Given the description of an element on the screen output the (x, y) to click on. 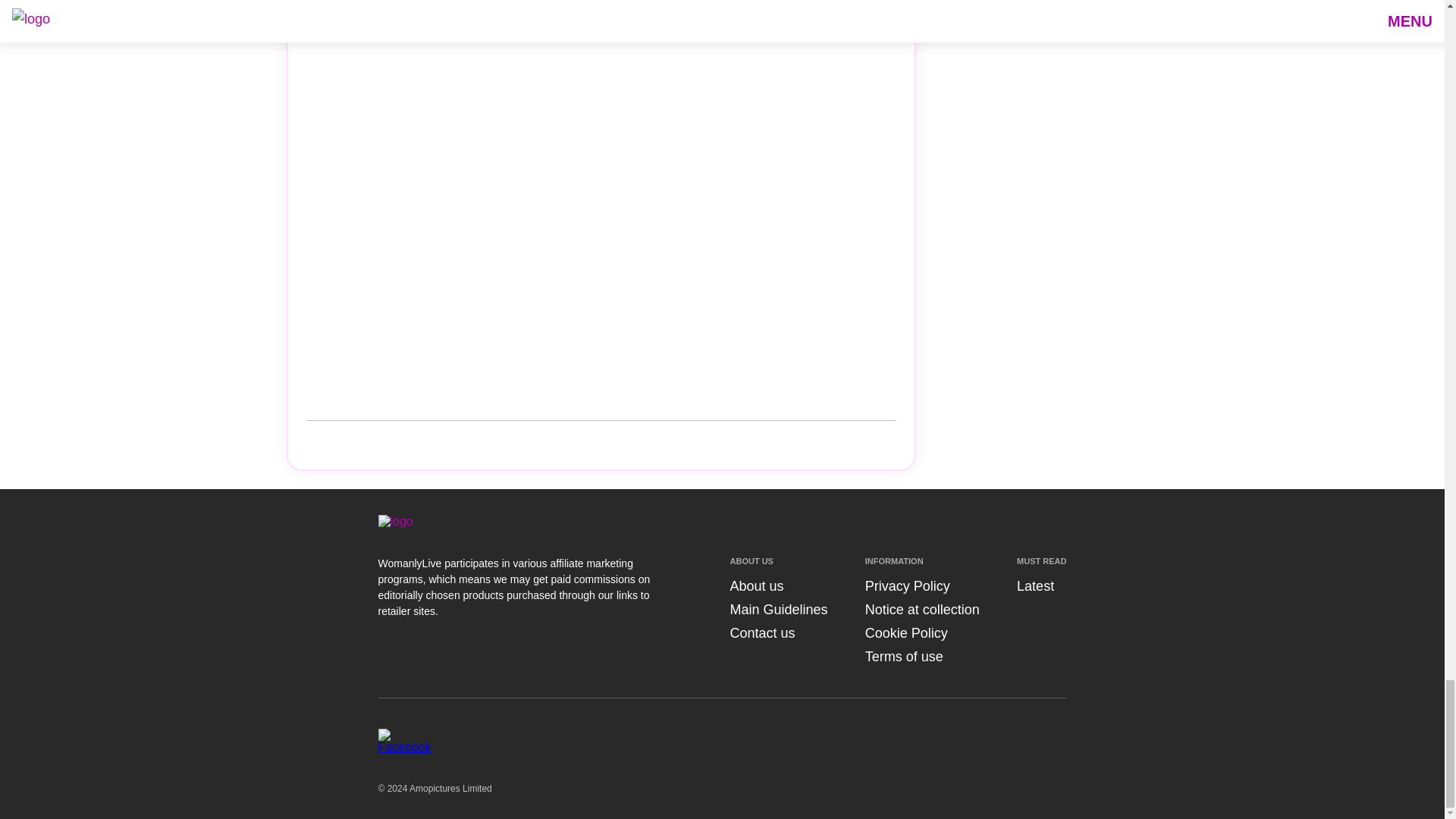
Contact us (761, 632)
About us (756, 585)
Main Guidelines (778, 609)
